Given the description of an element on the screen output the (x, y) to click on. 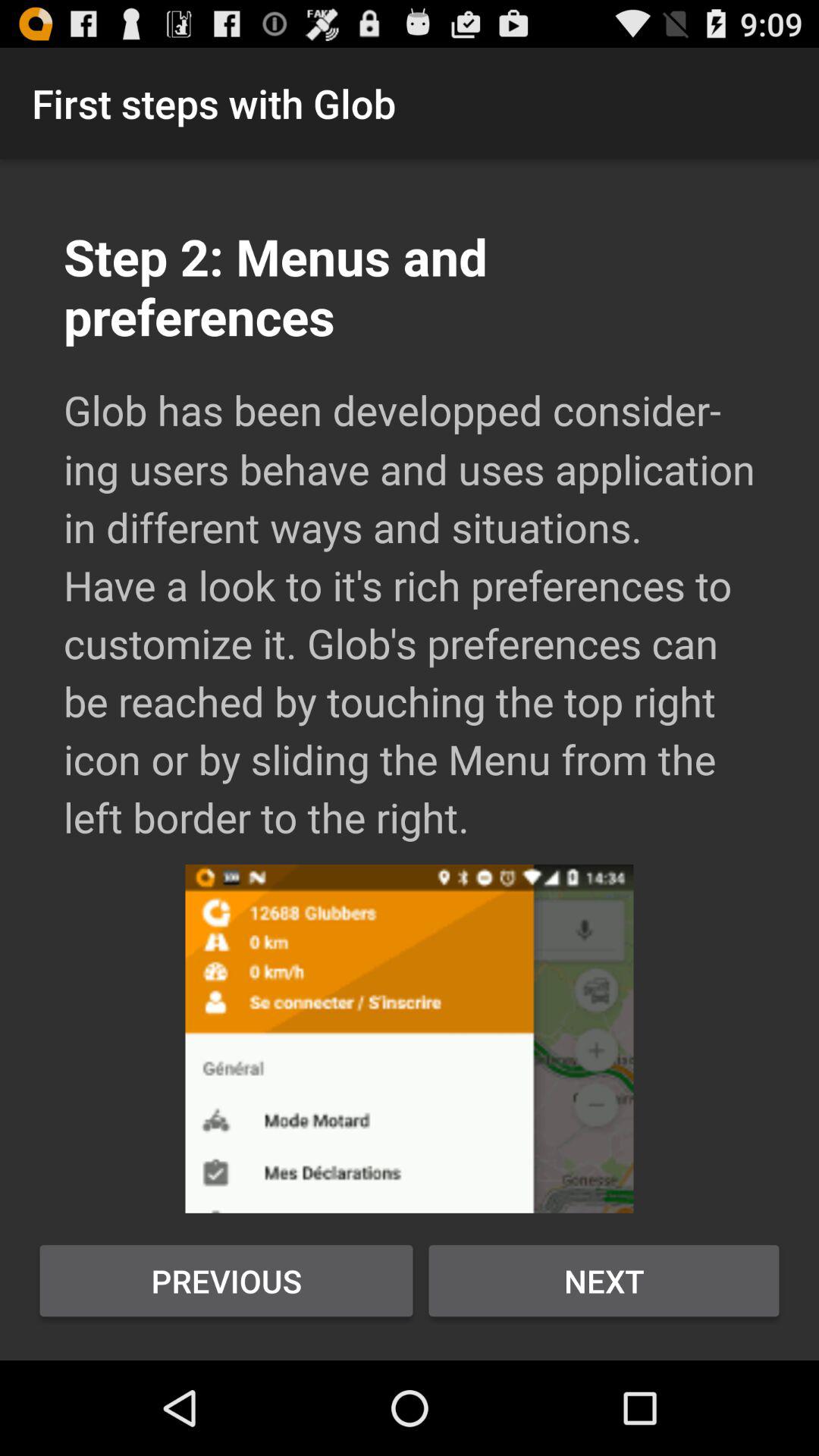
open previous item (225, 1280)
